Given the description of an element on the screen output the (x, y) to click on. 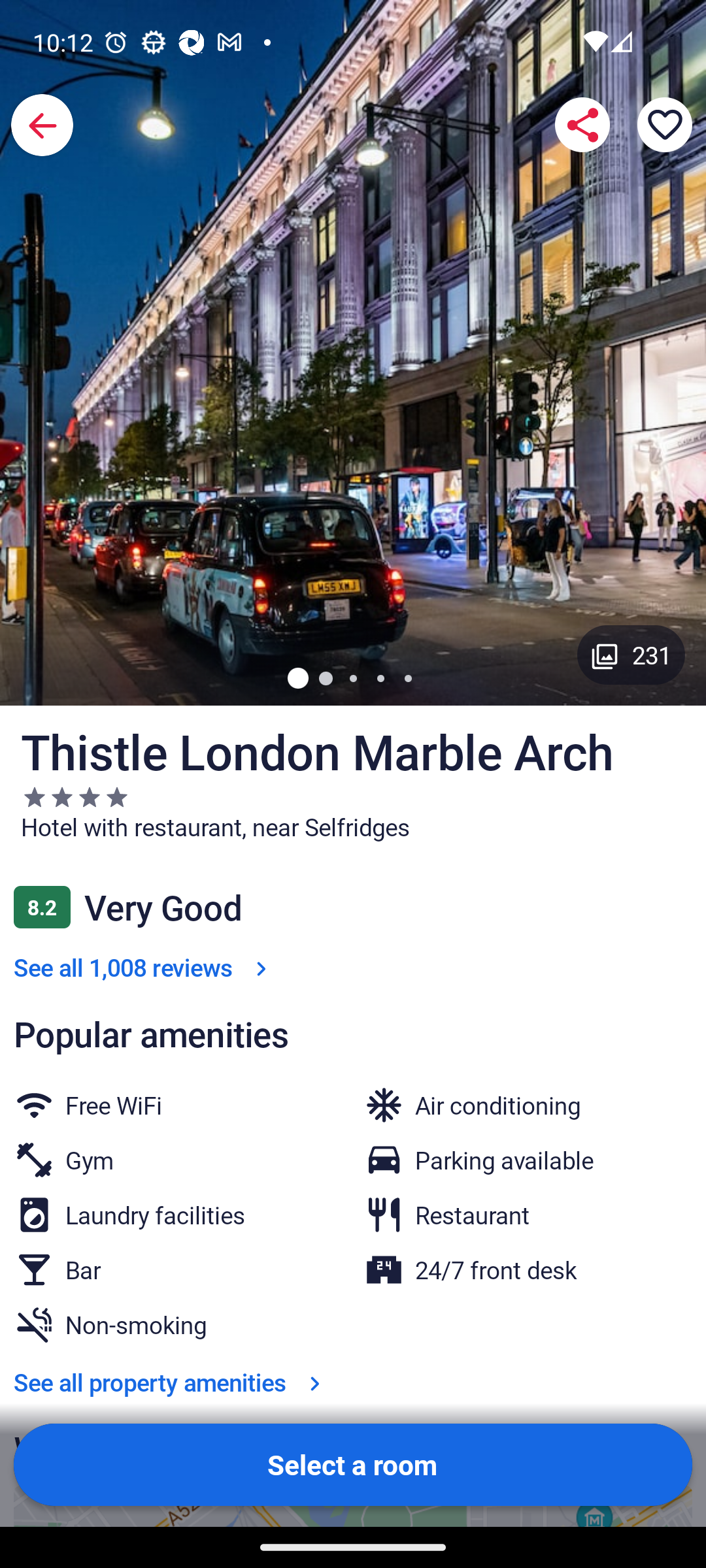
Save property to a trip (664, 124)
Back (43, 125)
Share Thistle London Marble Arch (581, 124)
Gallery button with 231 images (630, 655)
See all 1,008 reviews See all 1,008 reviews Link (143, 967)
Select a room Button Select a room (352, 1464)
